Given the description of an element on the screen output the (x, y) to click on. 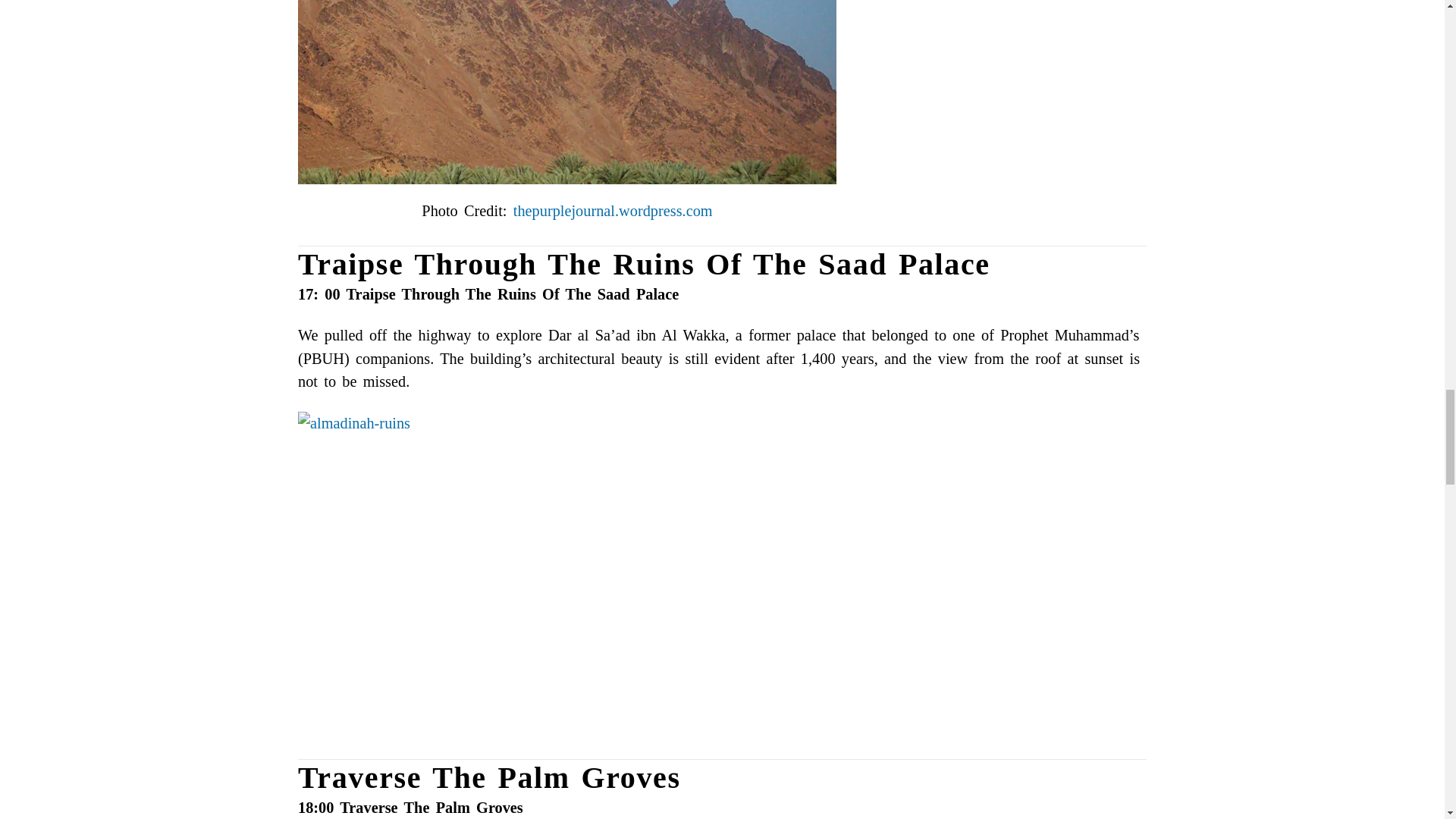
thepurplejournal.wordpress.com (613, 210)
A First-Timers Guide To Madinah 17 (566, 92)
